Given the description of an element on the screen output the (x, y) to click on. 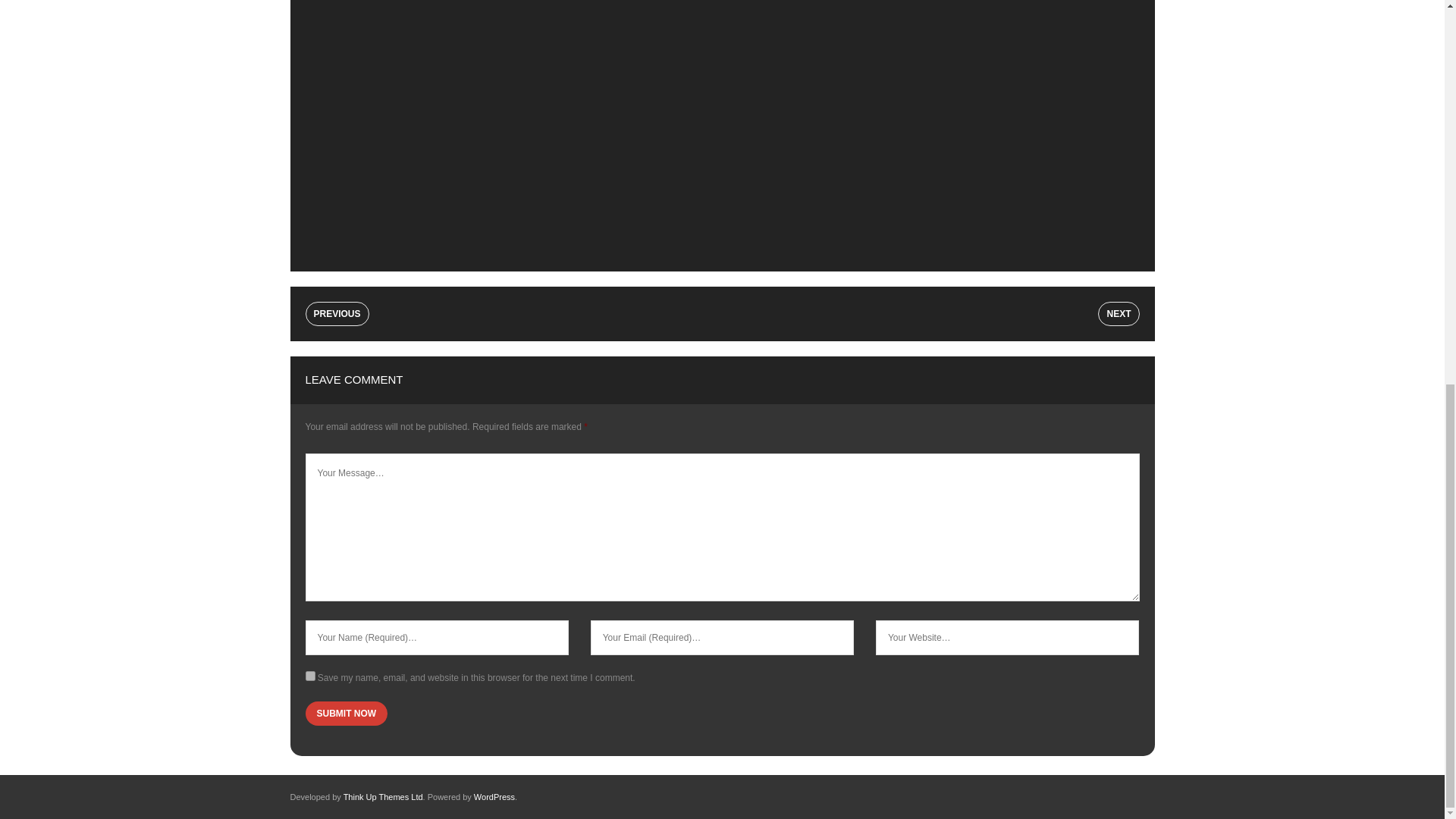
Submit Now (345, 713)
PREVIOUS (336, 313)
yes (309, 675)
Submit Now (345, 713)
NEXT (1117, 313)
Think Up Themes Ltd (383, 796)
WordPress (494, 796)
